Given the description of an element on the screen output the (x, y) to click on. 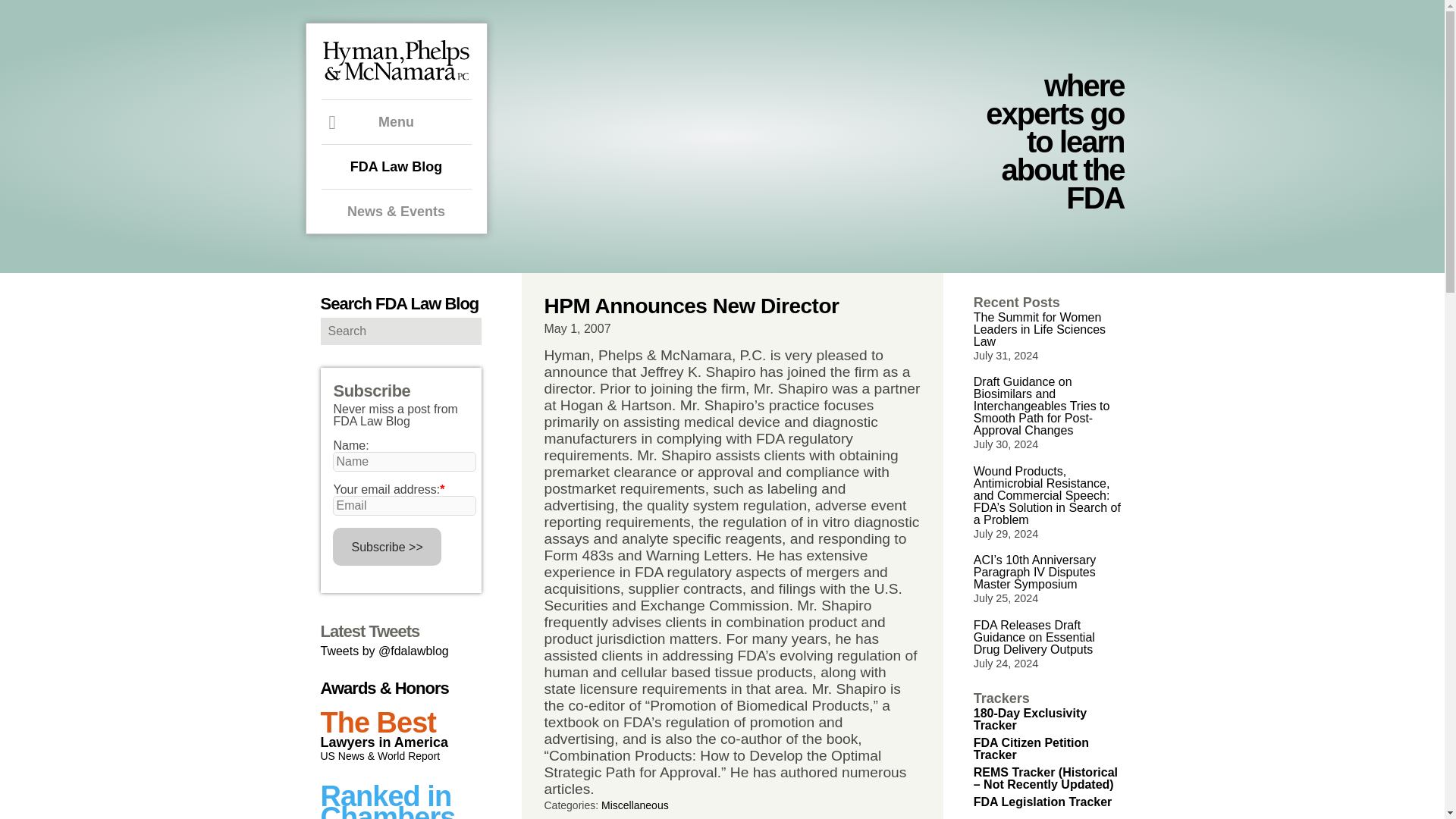
FDA Citizen Petition Tracker (1031, 748)
180-Day Exclusivity Tracker (1030, 719)
The Summit for Women Leaders in Life Sciences Law (1039, 329)
FDA Legislation Tracker (1043, 801)
FDA Law Blog (396, 166)
